Given the description of an element on the screen output the (x, y) to click on. 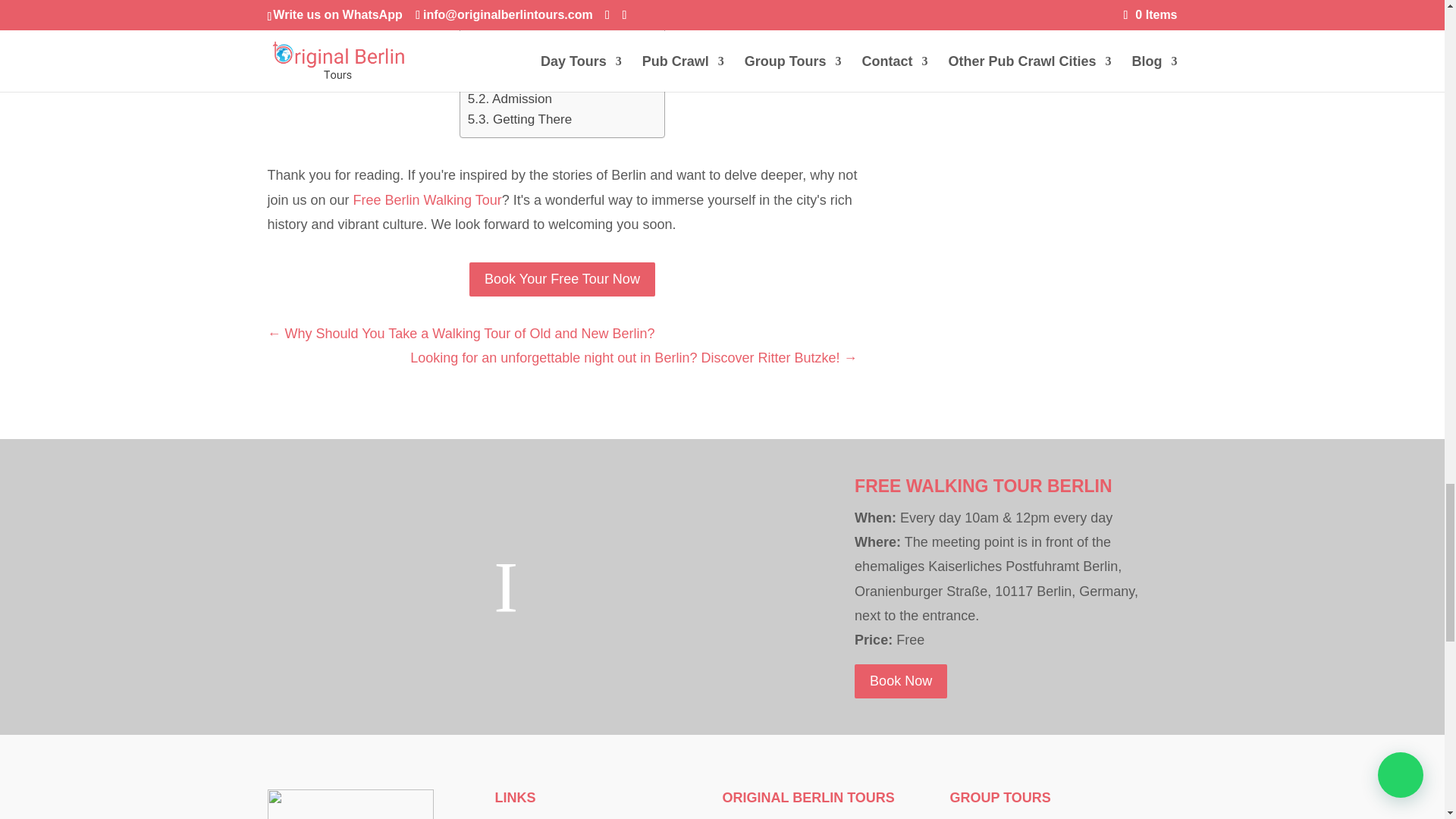
3.1. Guided Tours (518, 14)
3. Cultural Events and Activities (558, 2)
5.1. Opening Hours (523, 77)
5.2. Admission (509, 98)
5. Practical Information (533, 56)
5.3. Getting There (519, 118)
4. Family-Friendly Environment (557, 36)
